Given the description of an element on the screen output the (x, y) to click on. 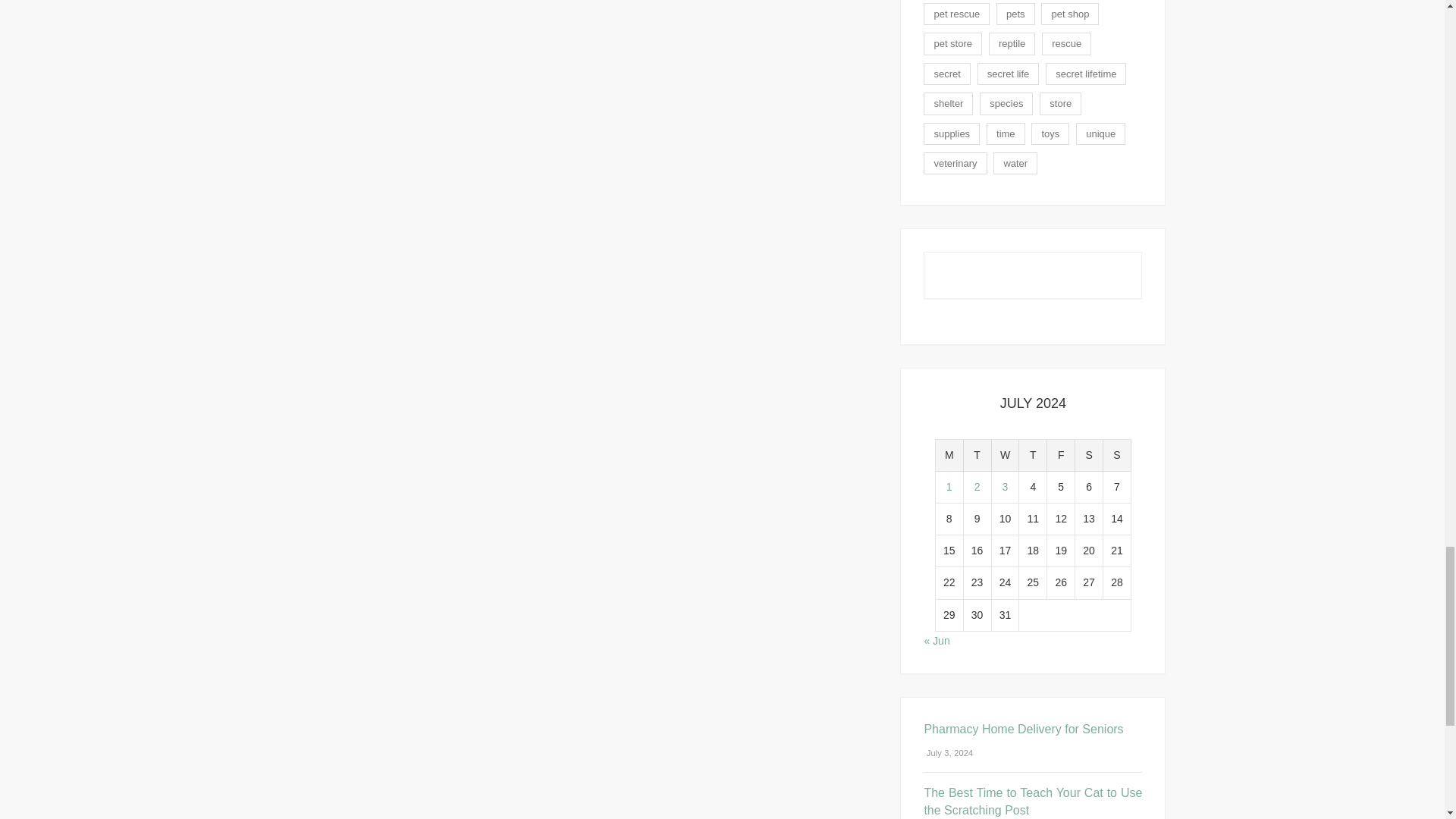
July 3, 2024 (947, 752)
